Given the description of an element on the screen output the (x, y) to click on. 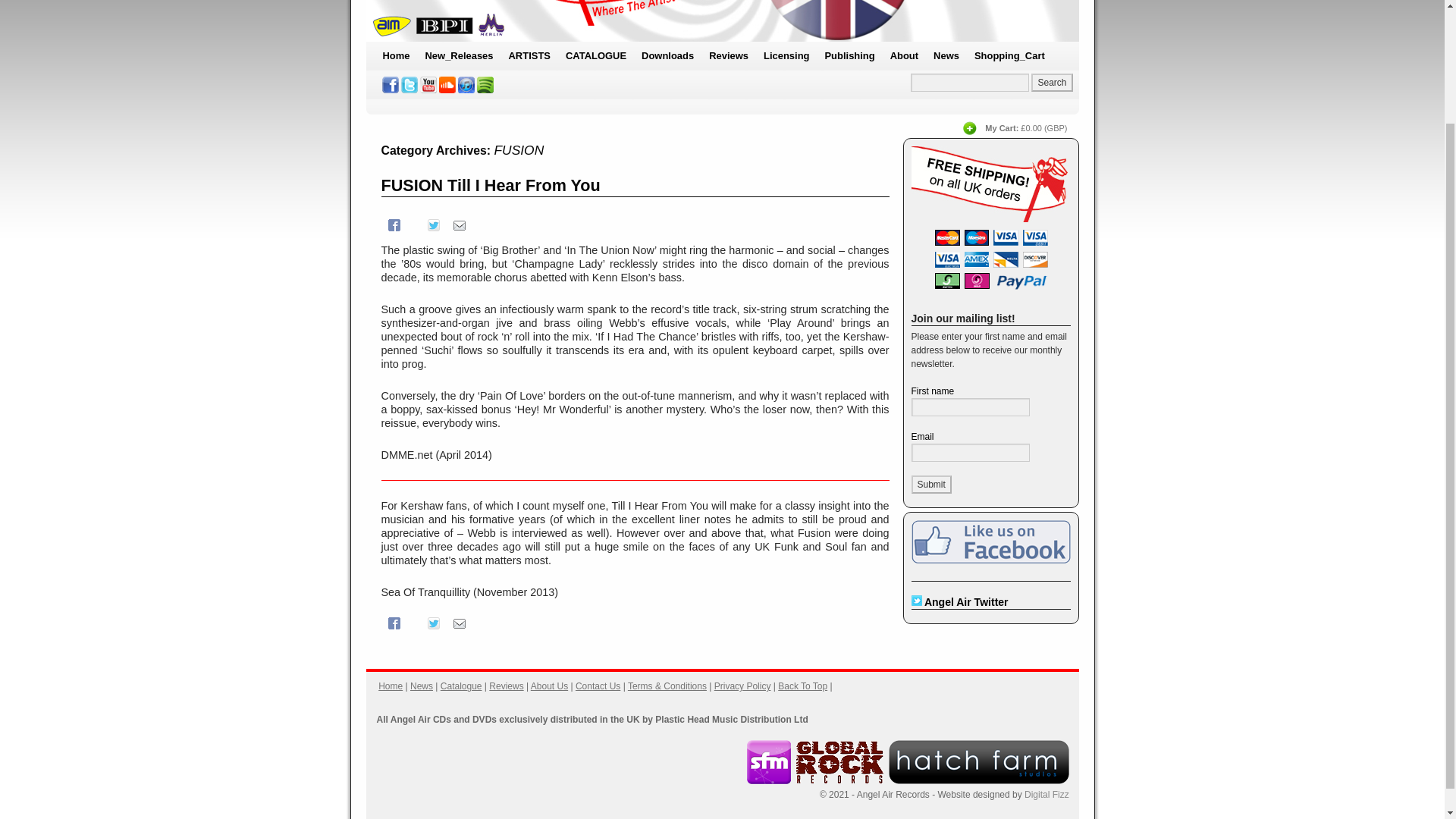
ARTISTS (528, 55)
Angel Air SoundCloud (447, 85)
Publishing (849, 55)
Permalink to FUSION Till I Hear From You (489, 185)
Reviews (728, 55)
Angel Air Twitter (409, 85)
Downloads (667, 55)
Email (458, 223)
Spotify (485, 85)
Angel Air YouTube (427, 85)
Angel Air Facebook (389, 85)
Search (1050, 82)
iTunes (465, 85)
About (904, 55)
Angel Air Records (721, 20)
